Given the description of an element on the screen output the (x, y) to click on. 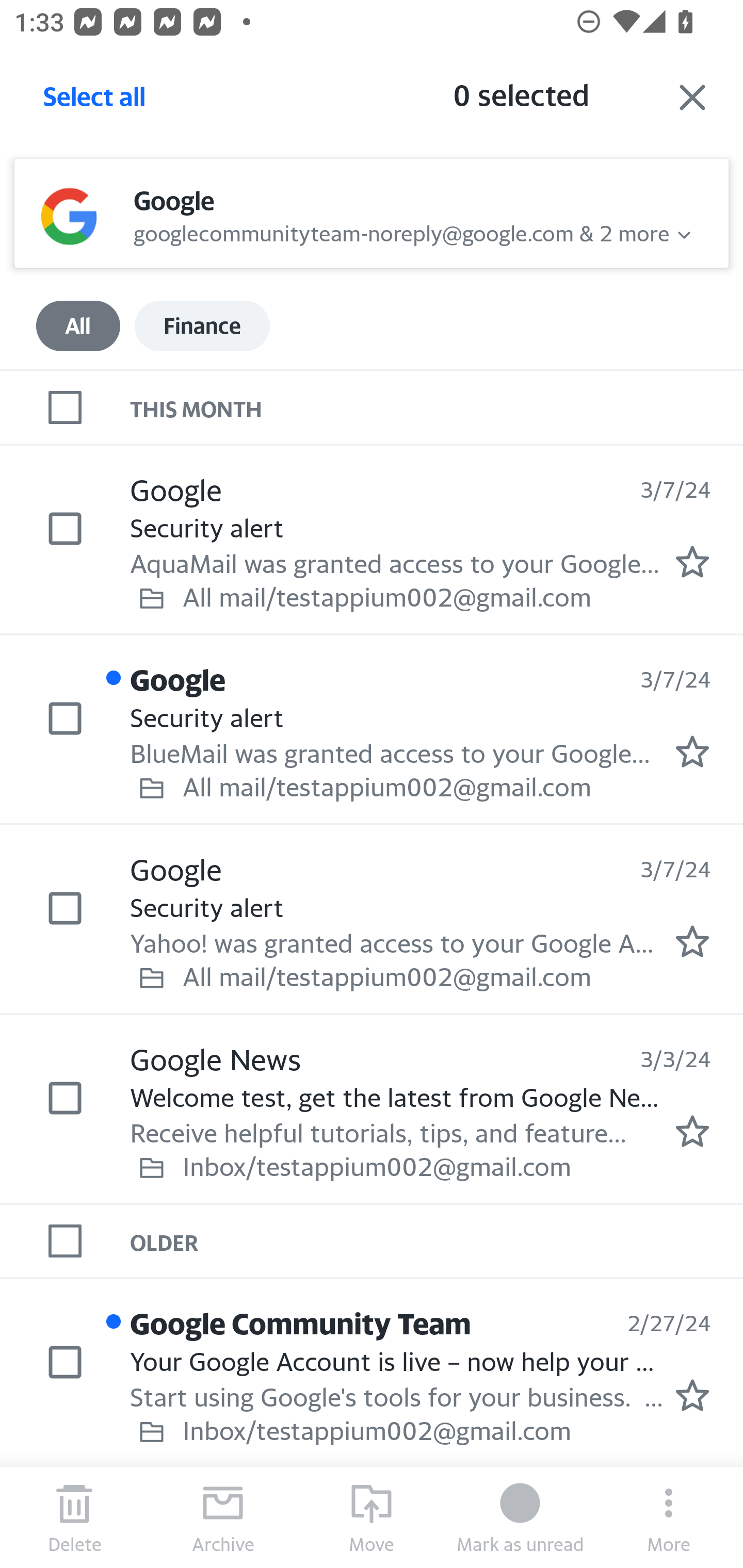
Exit selection mode (692, 97)
Select all (94, 101)
googlecommunityteam-noreply@google.com & 2 more (401, 231)
All (78, 326)
Finance (201, 326)
THIS MONTH (436, 406)
Mark as starred. (692, 562)
Mark as starred. (692, 751)
Mark as starred. (692, 941)
Mark as starred. (692, 1131)
OLDER (436, 1240)
Mark as starred. (692, 1394)
Delete (74, 1517)
Archive (222, 1517)
Move (371, 1517)
Mark as unread (519, 1517)
More (668, 1517)
